Given the description of an element on the screen output the (x, y) to click on. 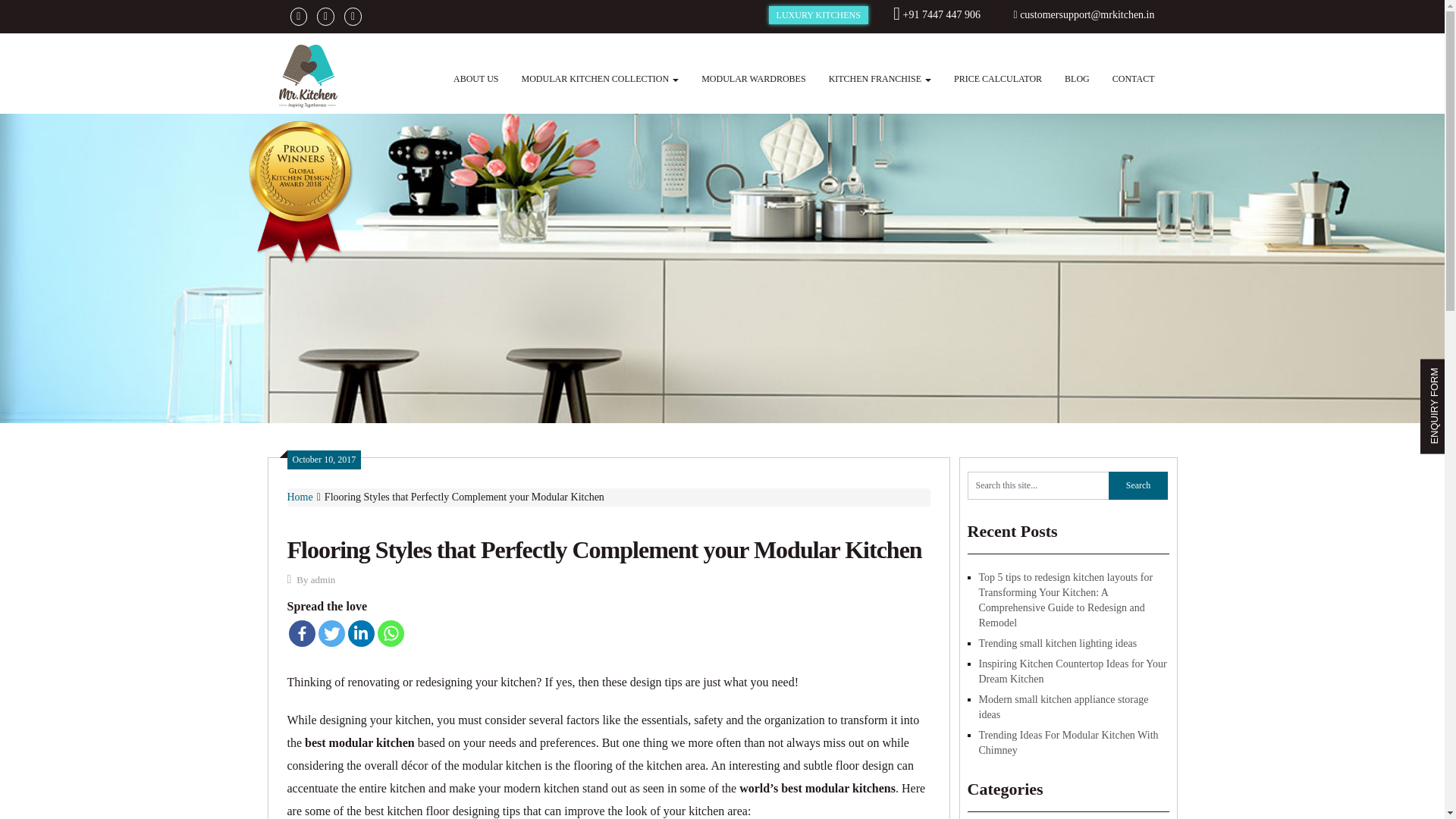
Twitter (331, 633)
PRICE CALCULATOR (997, 78)
Search (1138, 485)
Home (299, 496)
Inspiring Kitchen Countertop Ideas for Your Dream Kitchen (1072, 671)
KITCHEN FRANCHISE (879, 78)
MODULAR KITCHEN COLLECTION (599, 78)
Search this site... (1038, 485)
Facebook (301, 633)
Modern small kitchen appliance storage ideas (1063, 706)
